Given the description of an element on the screen output the (x, y) to click on. 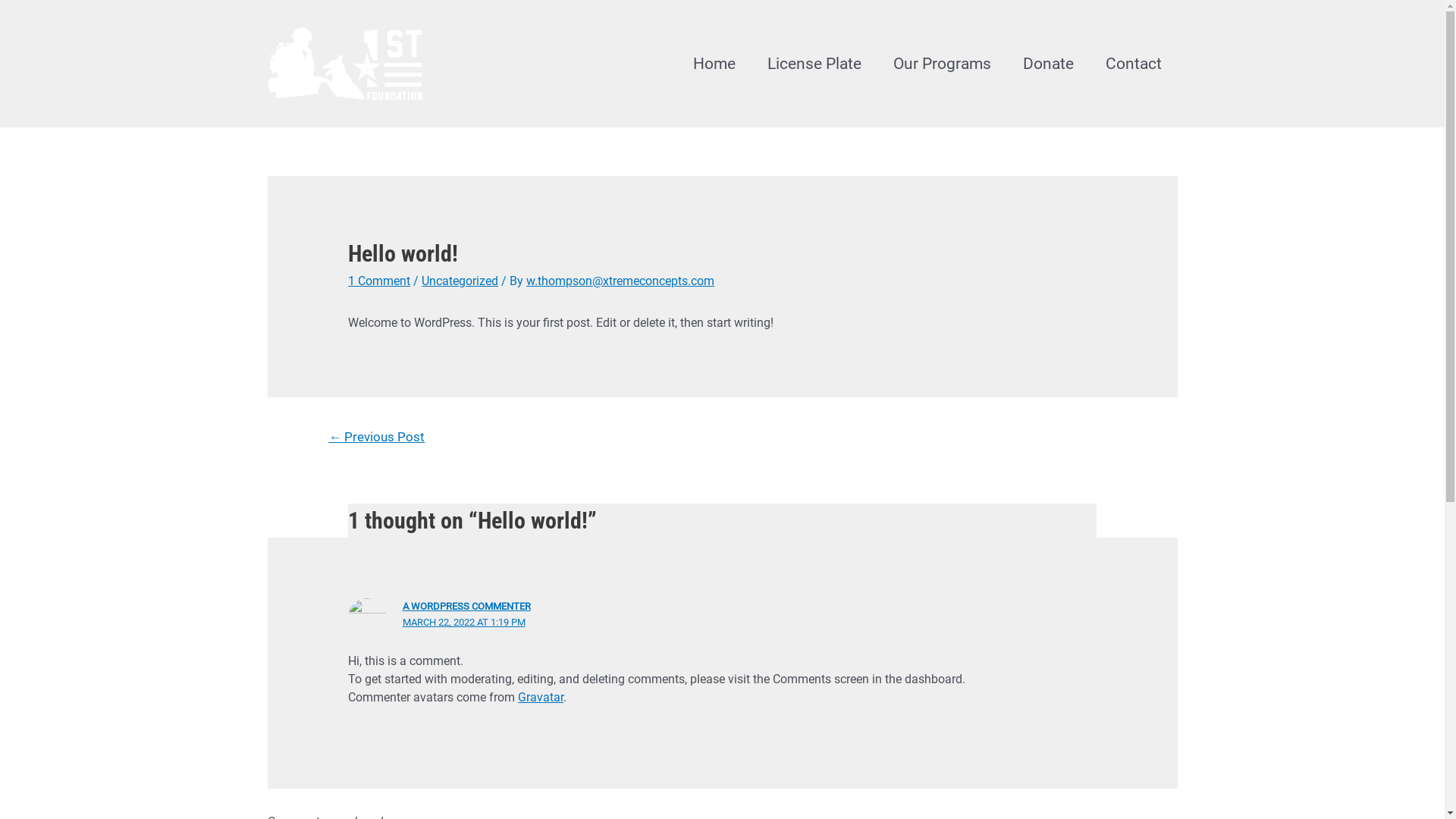
Home Element type: text (713, 63)
Our Programs Element type: text (941, 63)
1 Comment Element type: text (379, 280)
MARCH 22, 2022 AT 1:19 PM Element type: text (463, 621)
A WORDPRESS COMMENTER Element type: text (466, 605)
License Plate Element type: text (813, 63)
Donate Element type: text (1048, 63)
Contact Element type: text (1132, 63)
Uncategorized Element type: text (459, 280)
Gravatar Element type: text (540, 697)
w.thompson@xtremeconcepts.com Element type: text (620, 280)
